Given the description of an element on the screen output the (x, y) to click on. 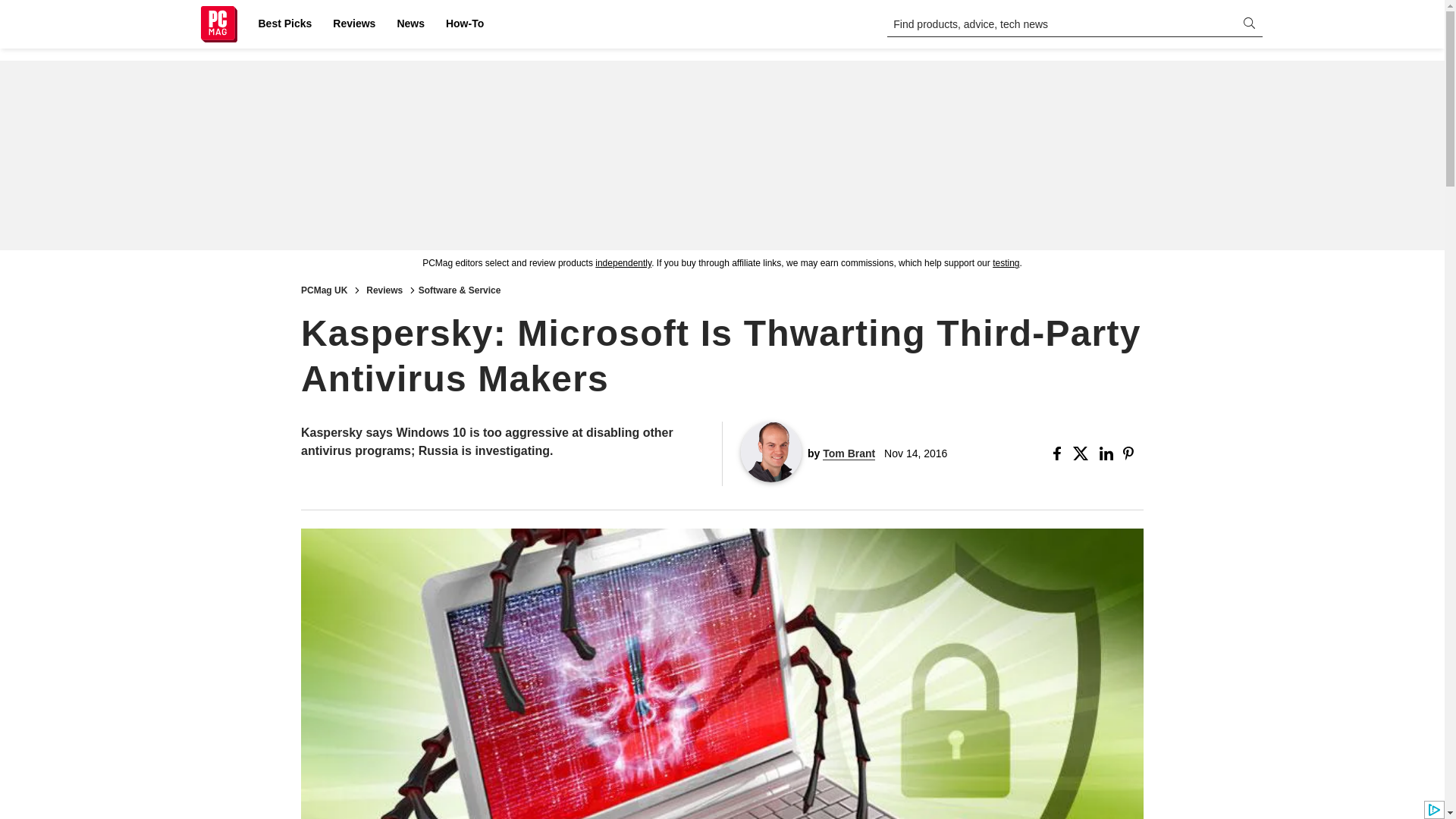
Share this Story on Pinterest (1132, 453)
Best Picks (284, 24)
Share this Story on Linkedin (1107, 453)
Share this Story on X (1083, 453)
Share this Story on Facebook (1059, 453)
